Given the description of an element on the screen output the (x, y) to click on. 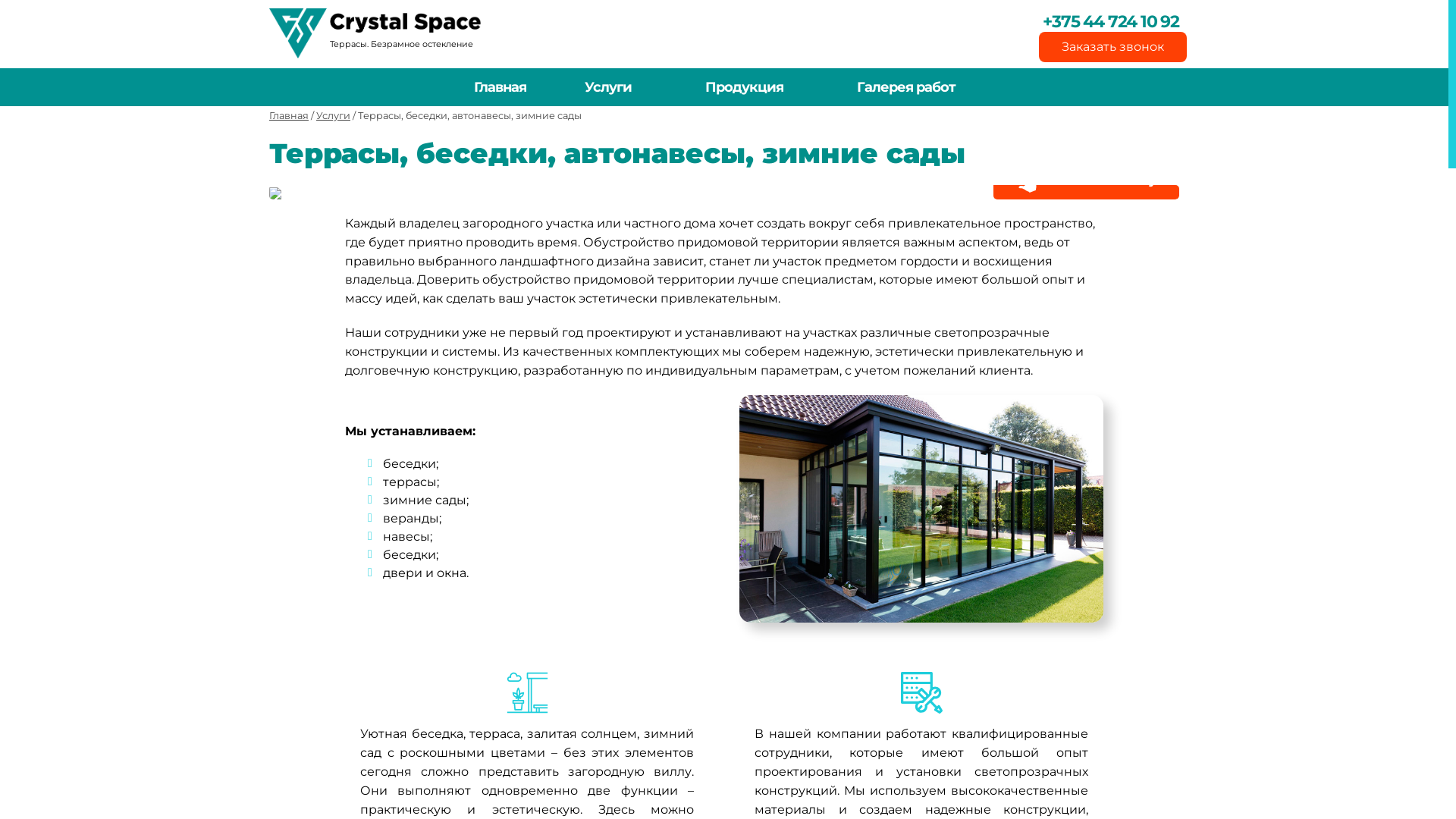
+375 44 724 10 92 Element type: text (1097, 21)
